Given the description of an element on the screen output the (x, y) to click on. 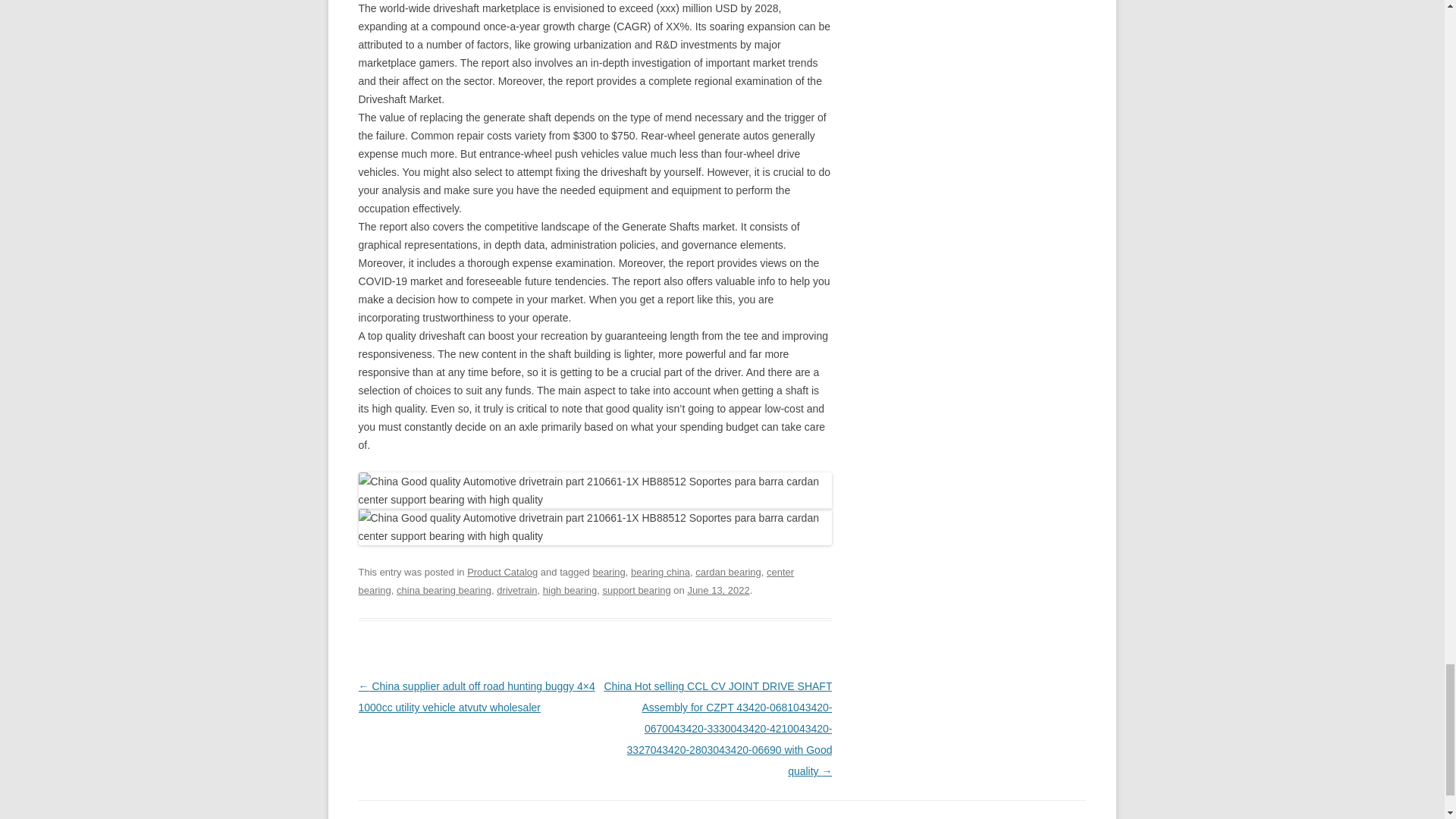
June 13, 2022 (718, 590)
drivetrain (516, 590)
12:39 pm (718, 590)
center bearing (575, 581)
high bearing (569, 590)
china bearing bearing (444, 590)
bearing (608, 572)
support bearing (635, 590)
cardan bearing (728, 572)
Product Catalog (502, 572)
bearing china (660, 572)
